Given the description of an element on the screen output the (x, y) to click on. 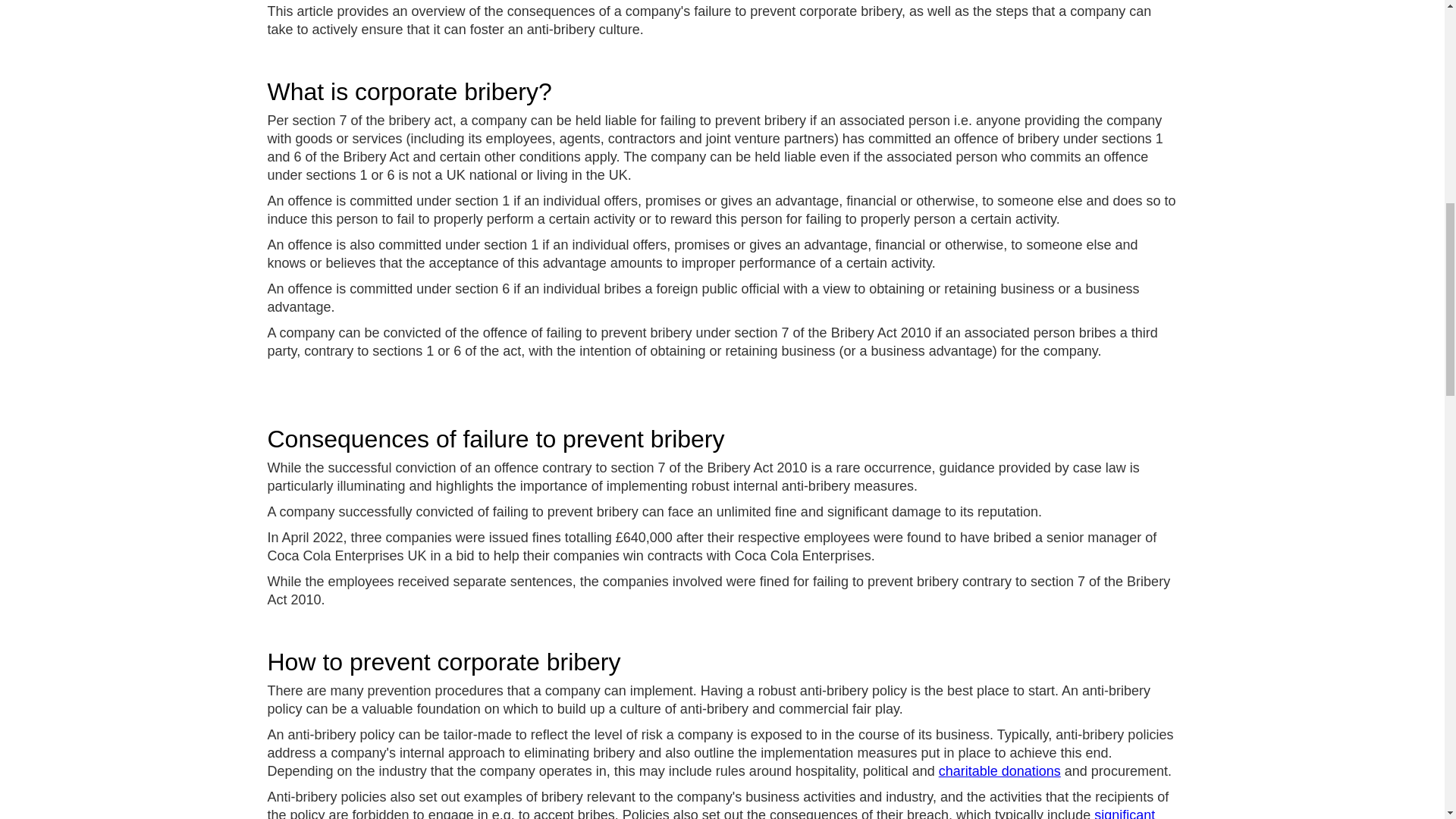
charitable donations (1000, 770)
significant disciplinary measures (710, 813)
